Given the description of an element on the screen output the (x, y) to click on. 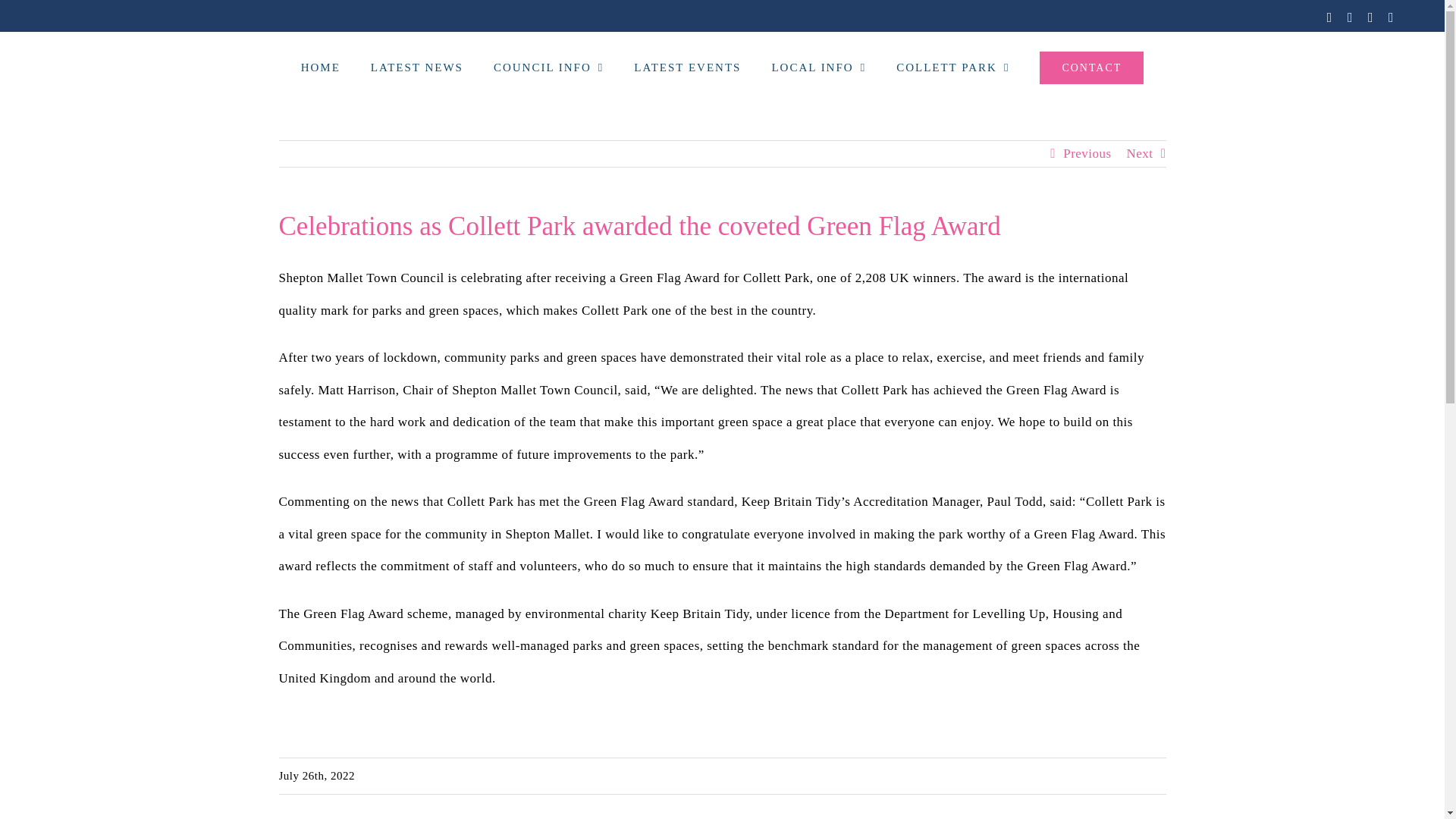
Instagram (1370, 17)
COLLETT PARK (952, 67)
CONTACT (1090, 67)
LATEST EVENTS (687, 67)
COUNCIL INFO (548, 67)
LOCAL INFO (818, 67)
X (1350, 17)
LATEST NEWS (417, 67)
LinkedIn (1391, 17)
Facebook (1329, 17)
HOME (320, 67)
